Given the description of an element on the screen output the (x, y) to click on. 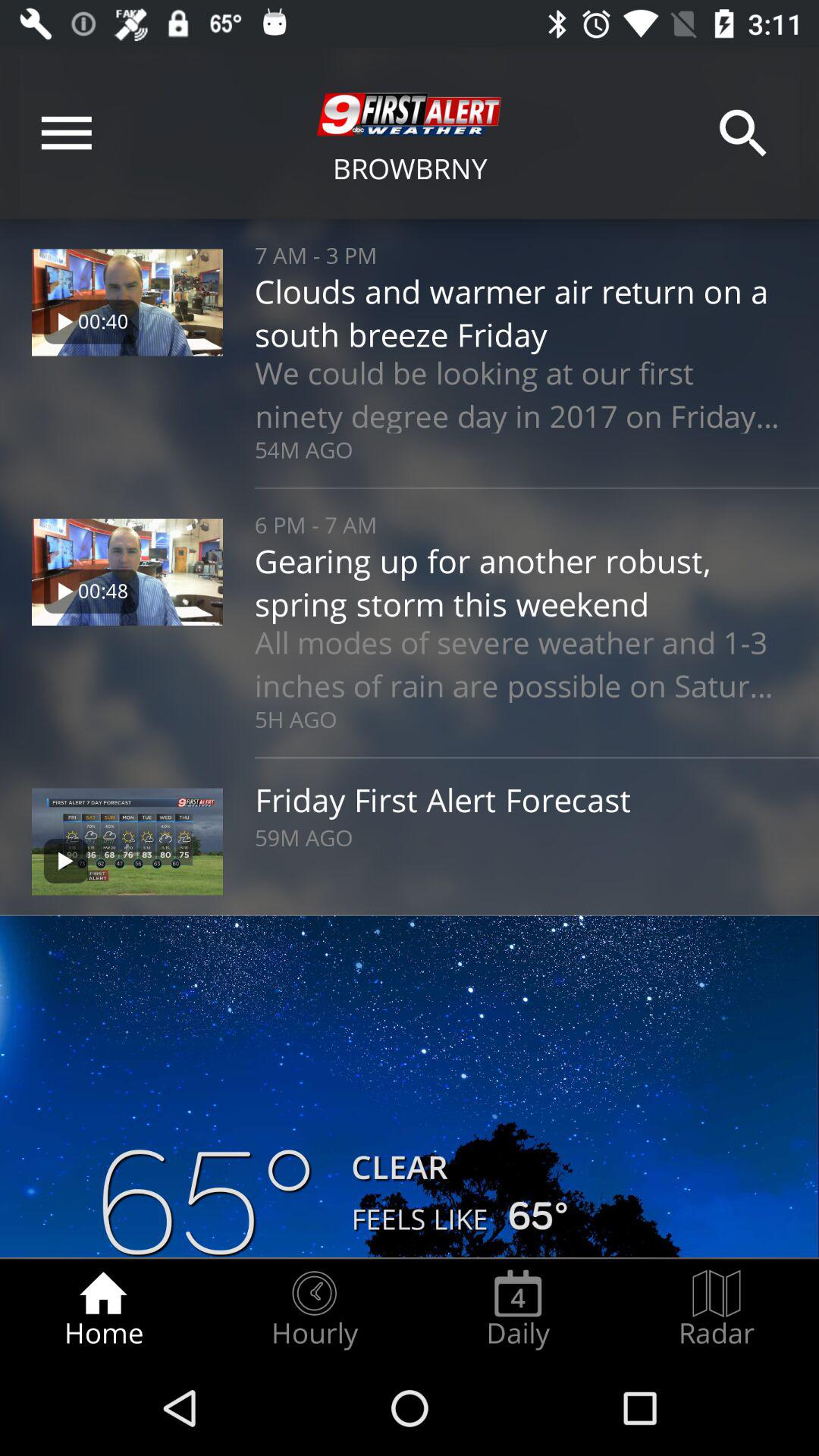
launch home icon (103, 1309)
